Given the description of an element on the screen output the (x, y) to click on. 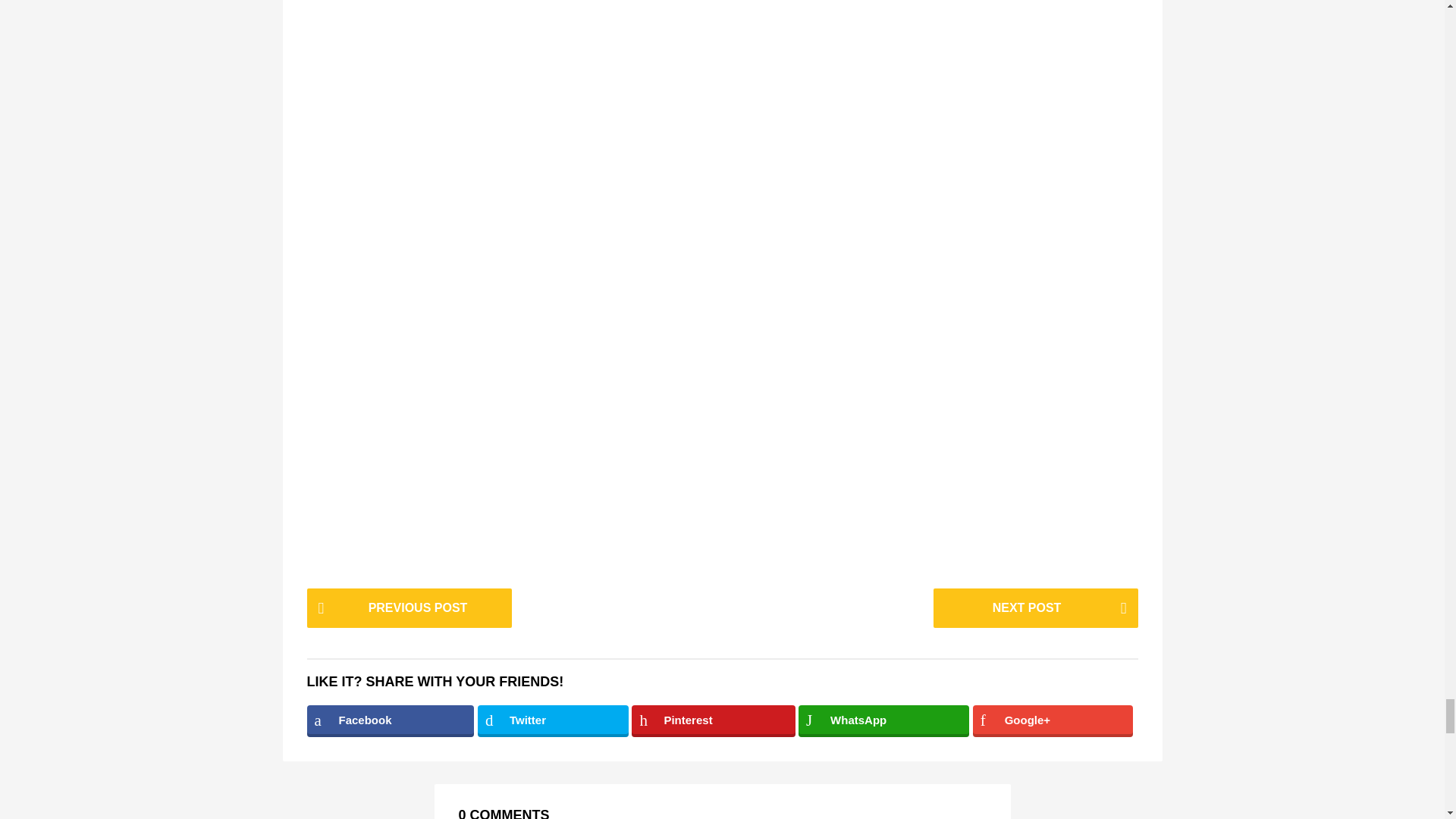
Facebook (389, 721)
PREVIOUS POST (408, 608)
Pinterest (712, 721)
Twitter (552, 721)
WhatsApp (883, 721)
NEXT POST (1035, 608)
